Given the description of an element on the screen output the (x, y) to click on. 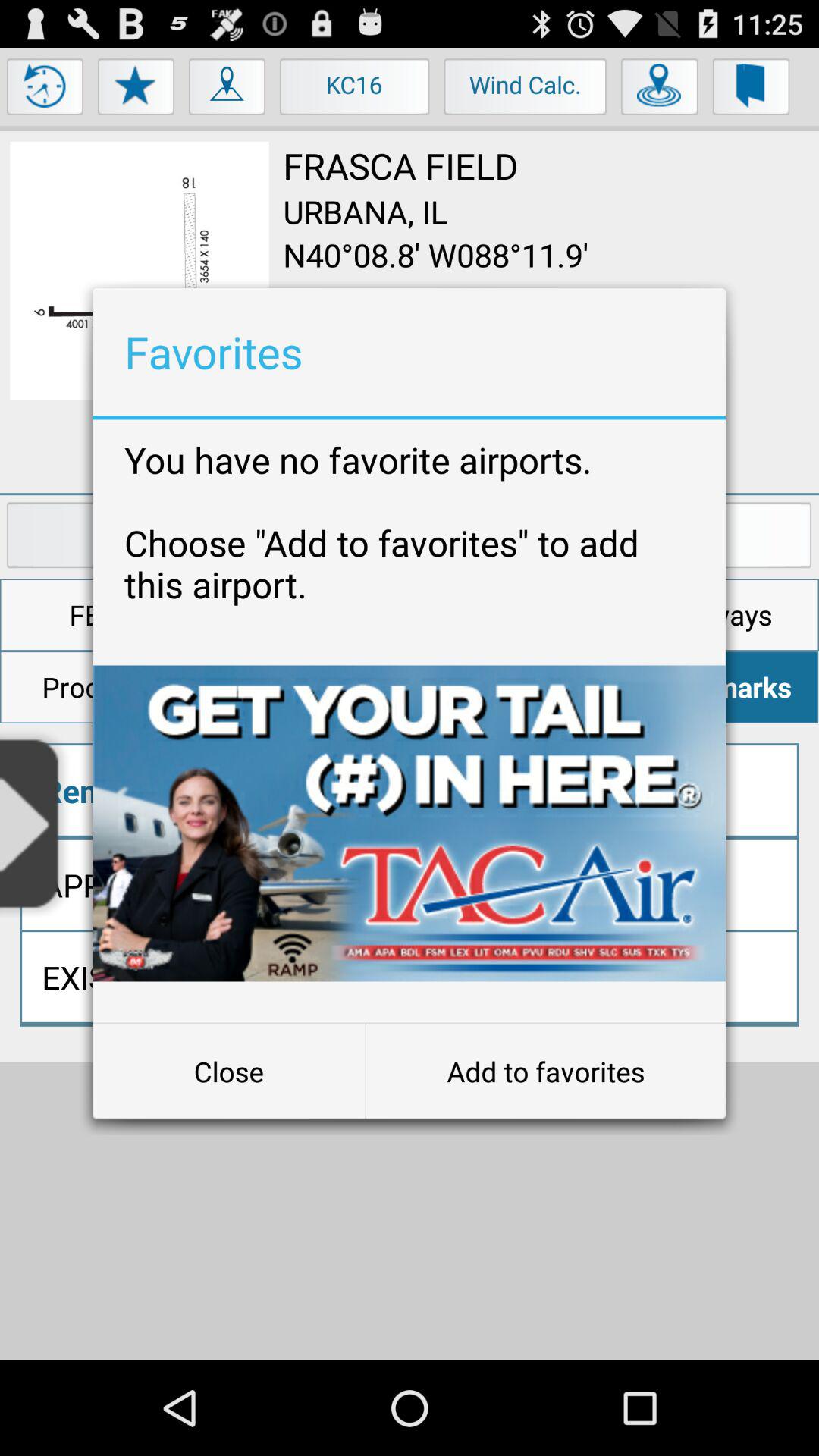
advertisement (408, 823)
